Given the description of an element on the screen output the (x, y) to click on. 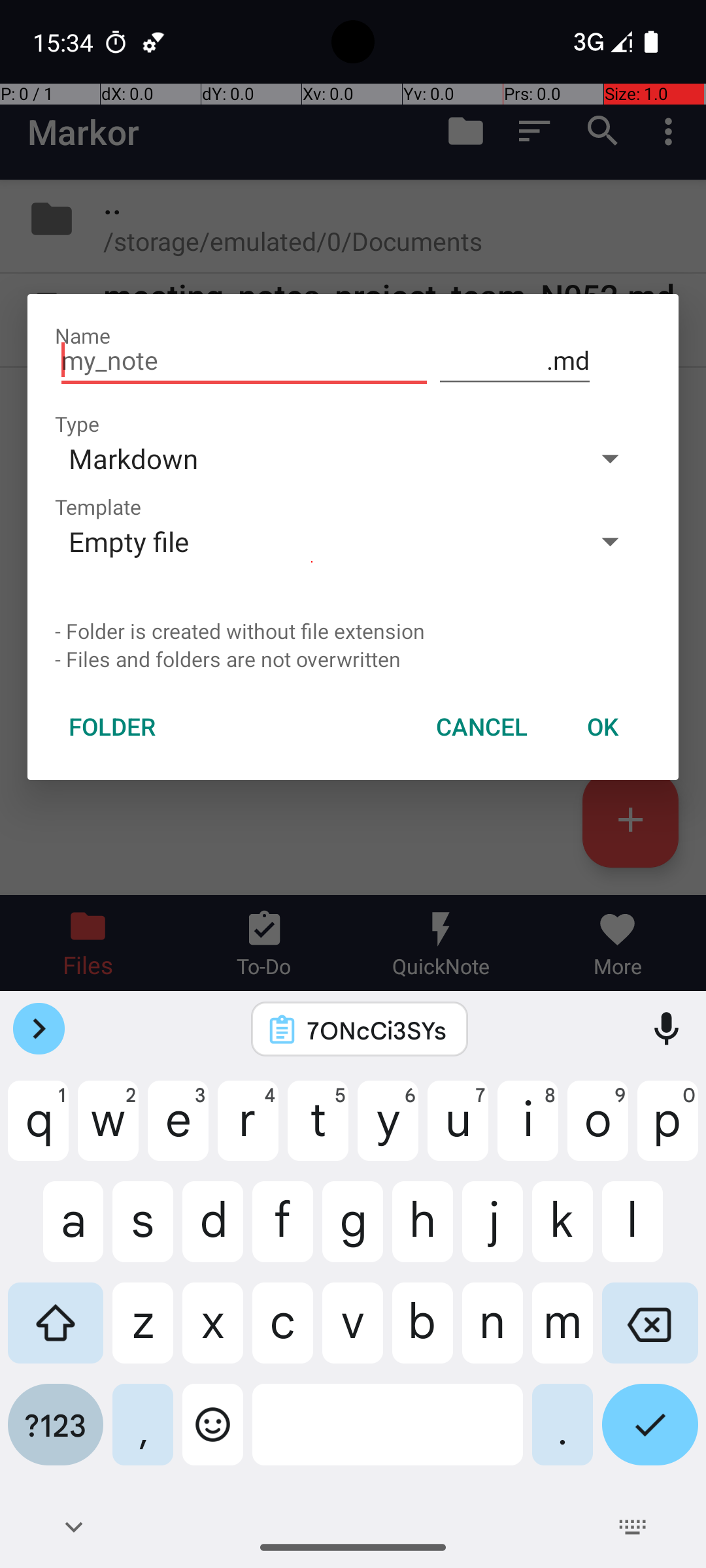
7ONcCi3SYs Element type: android.widget.TextView (376, 1029)
